Given the description of an element on the screen output the (x, y) to click on. 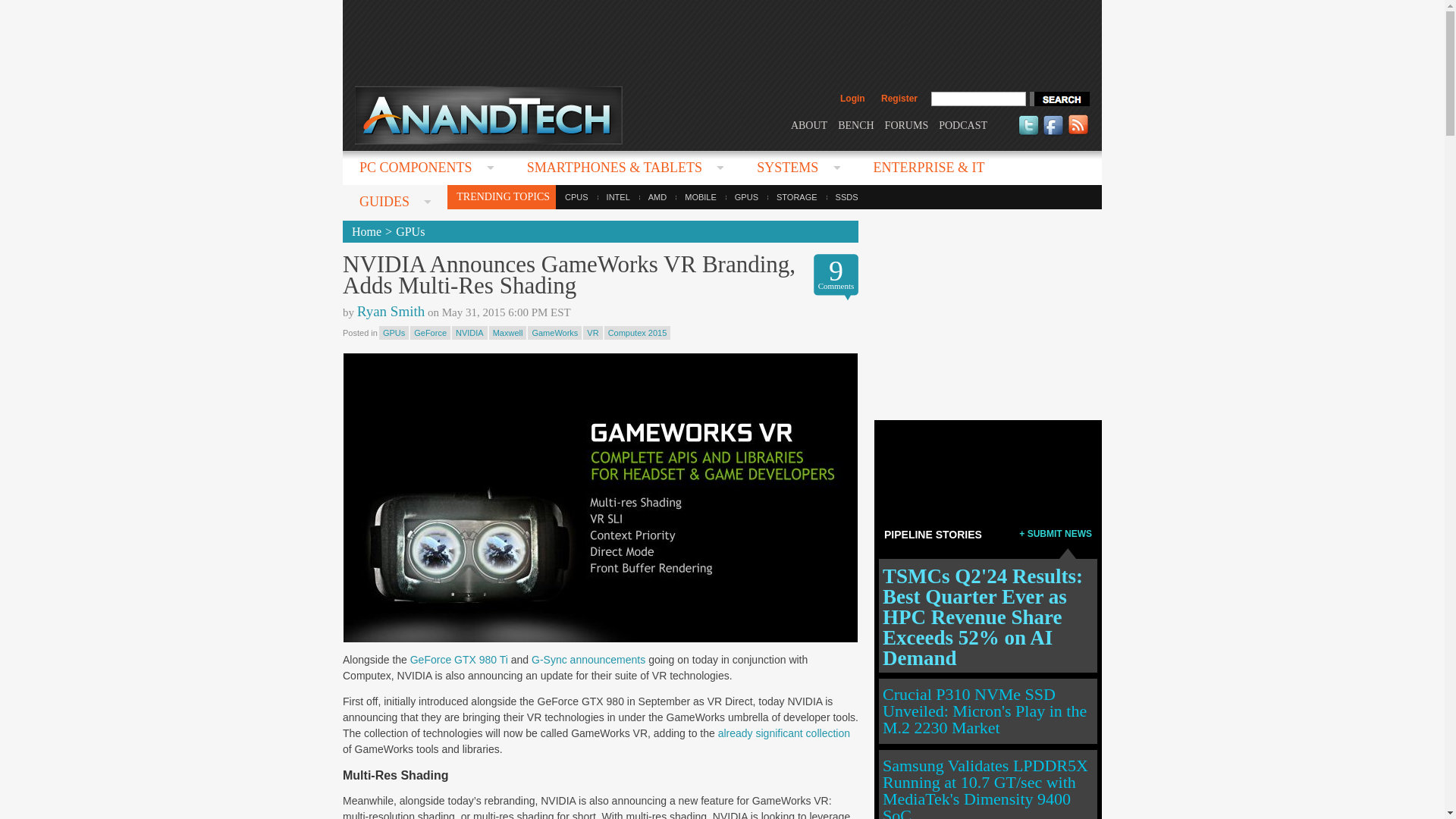
search (1059, 98)
Register (898, 98)
FORUMS (906, 125)
search (1059, 98)
ABOUT (808, 125)
Login (852, 98)
search (1059, 98)
BENCH (855, 125)
PODCAST (963, 125)
